Given the description of an element on the screen output the (x, y) to click on. 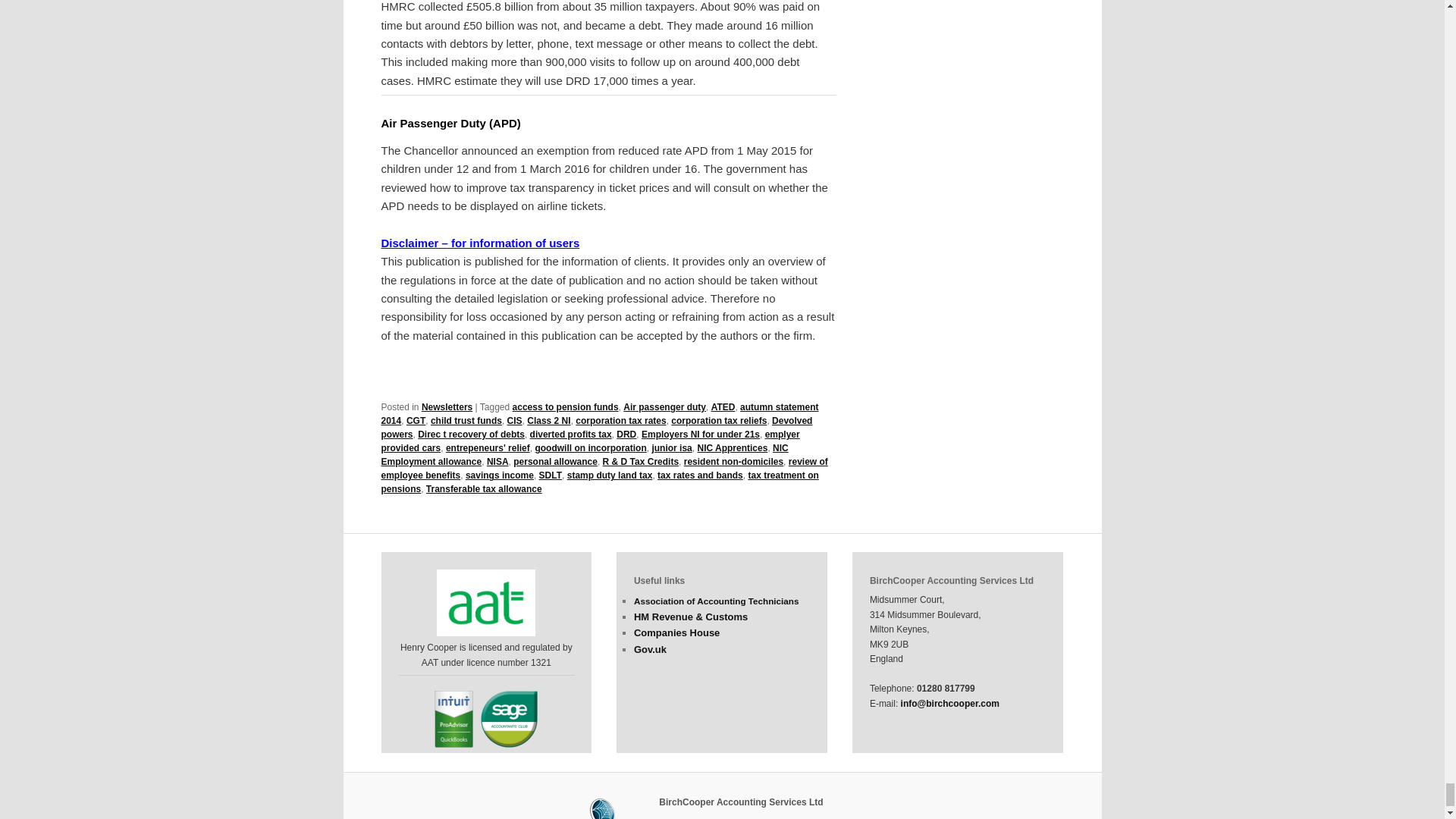
Association of Accounting Technicians - member (485, 602)
Sage Accountants Club member (508, 719)
